Given the description of an element on the screen output the (x, y) to click on. 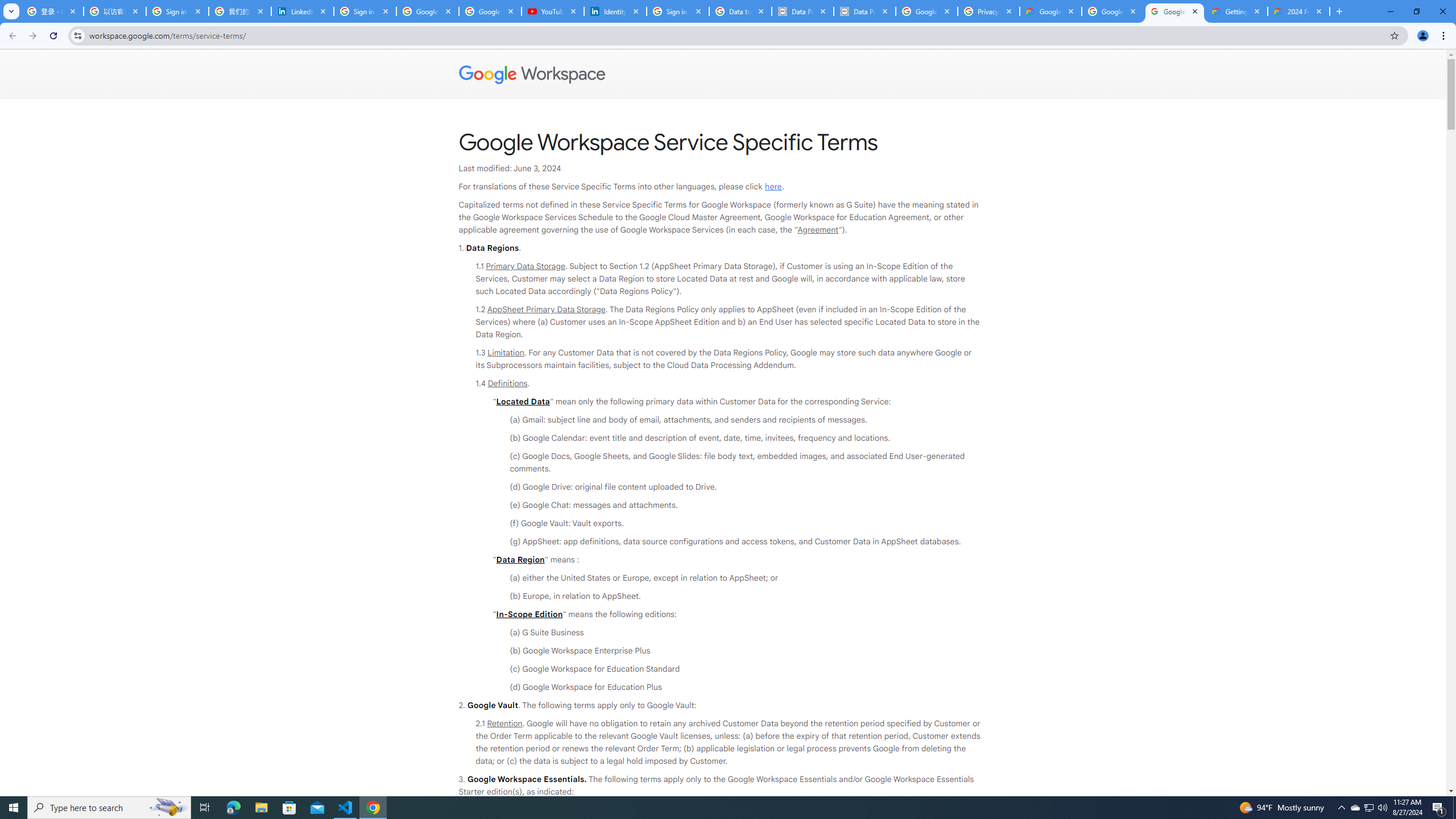
Google Workspace (723, 74)
YouTube (552, 11)
Data Privacy Framework (802, 11)
Sign in - Google Accounts (678, 11)
